Given the description of an element on the screen output the (x, y) to click on. 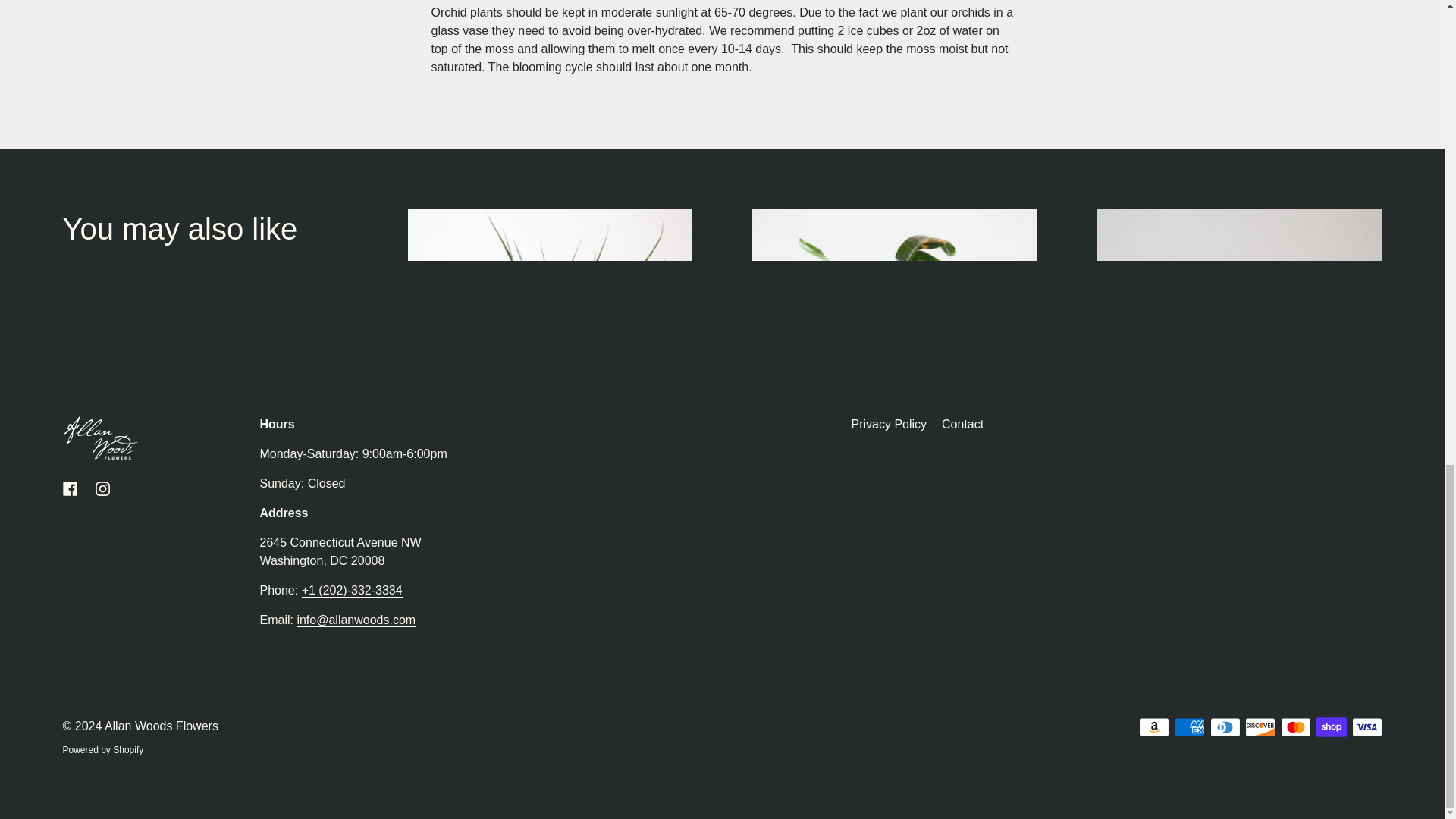
Shop Pay (1331, 726)
Diners Club (1224, 726)
Discover (1259, 726)
American Express (1189, 726)
Allan Woods Flowers on Instagram (102, 488)
Amazon (1153, 726)
Allan Woods Flowers on Facebook (69, 488)
Visa (1366, 726)
Mastercard (1296, 726)
